Given the description of an element on the screen output the (x, y) to click on. 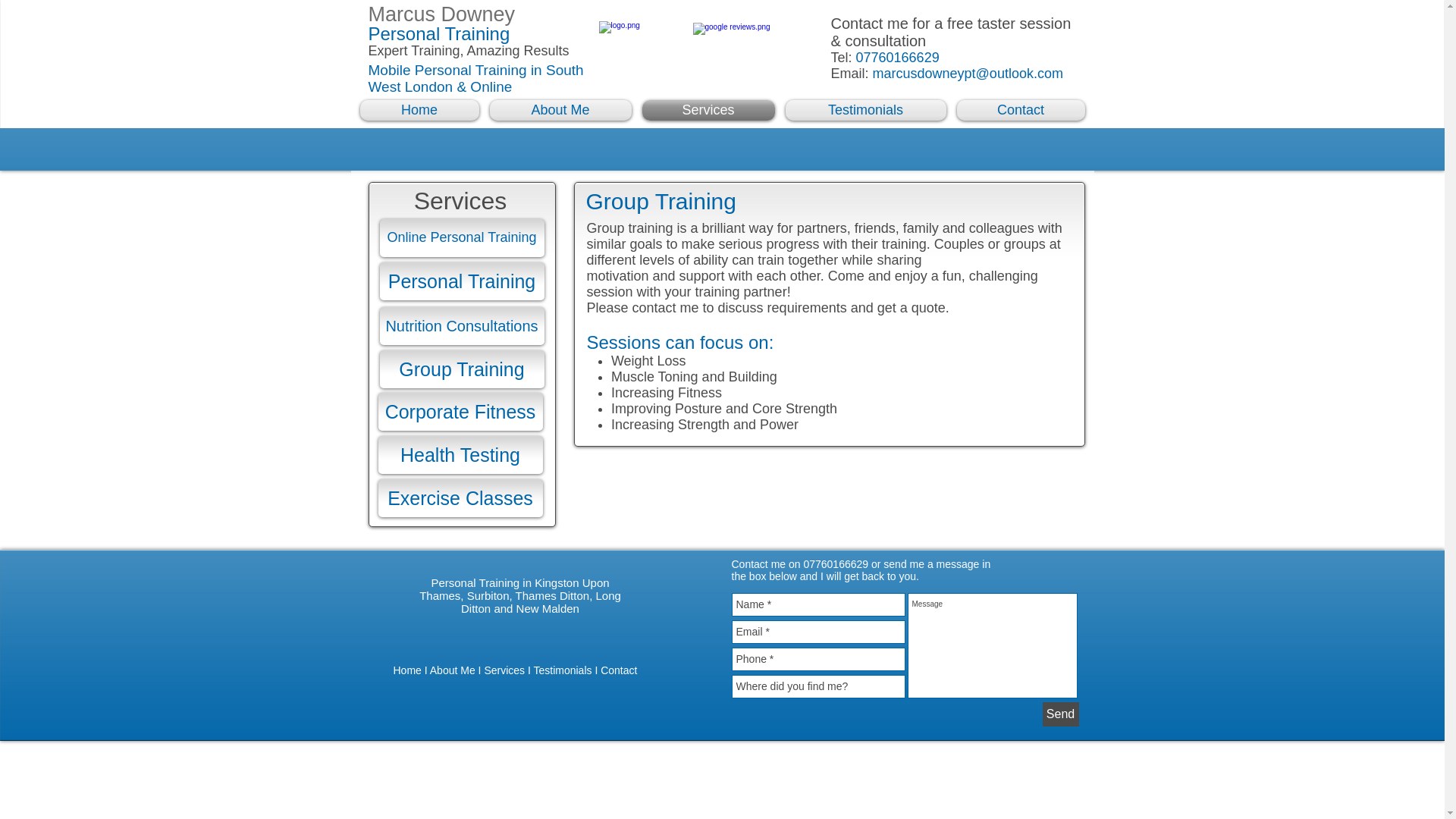
Online Personal Training (460, 238)
Testimonials (561, 670)
Send (1060, 713)
Tel: 07760166629 (885, 57)
Expert Training, Amazing Results (468, 51)
Health Testing (459, 454)
Contact (618, 670)
Home (421, 109)
Contact (1017, 109)
Personal Training (439, 33)
